Given the description of an element on the screen output the (x, y) to click on. 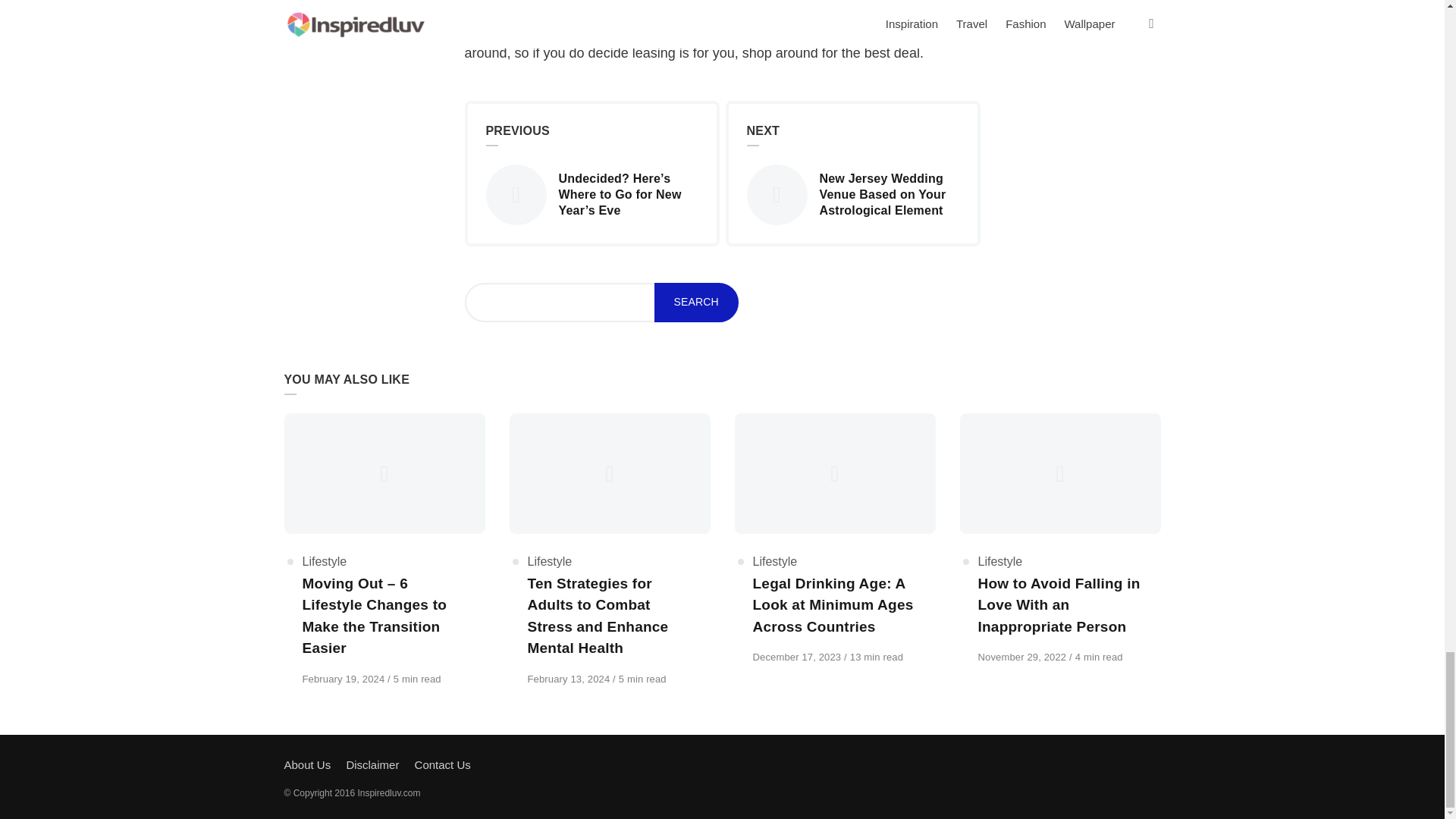
February 13, 2024 (569, 678)
Lifestyle (323, 561)
December 17, 2023 (798, 656)
February 19, 2024 (344, 678)
November 29, 2022 (1024, 656)
December 17, 2023 (798, 656)
New Jersey Wedding Venue Based on Your Astrological Element (851, 194)
Lifestyle (549, 561)
November 29, 2022 (1024, 656)
Lifestyle (774, 561)
